Given the description of an element on the screen output the (x, y) to click on. 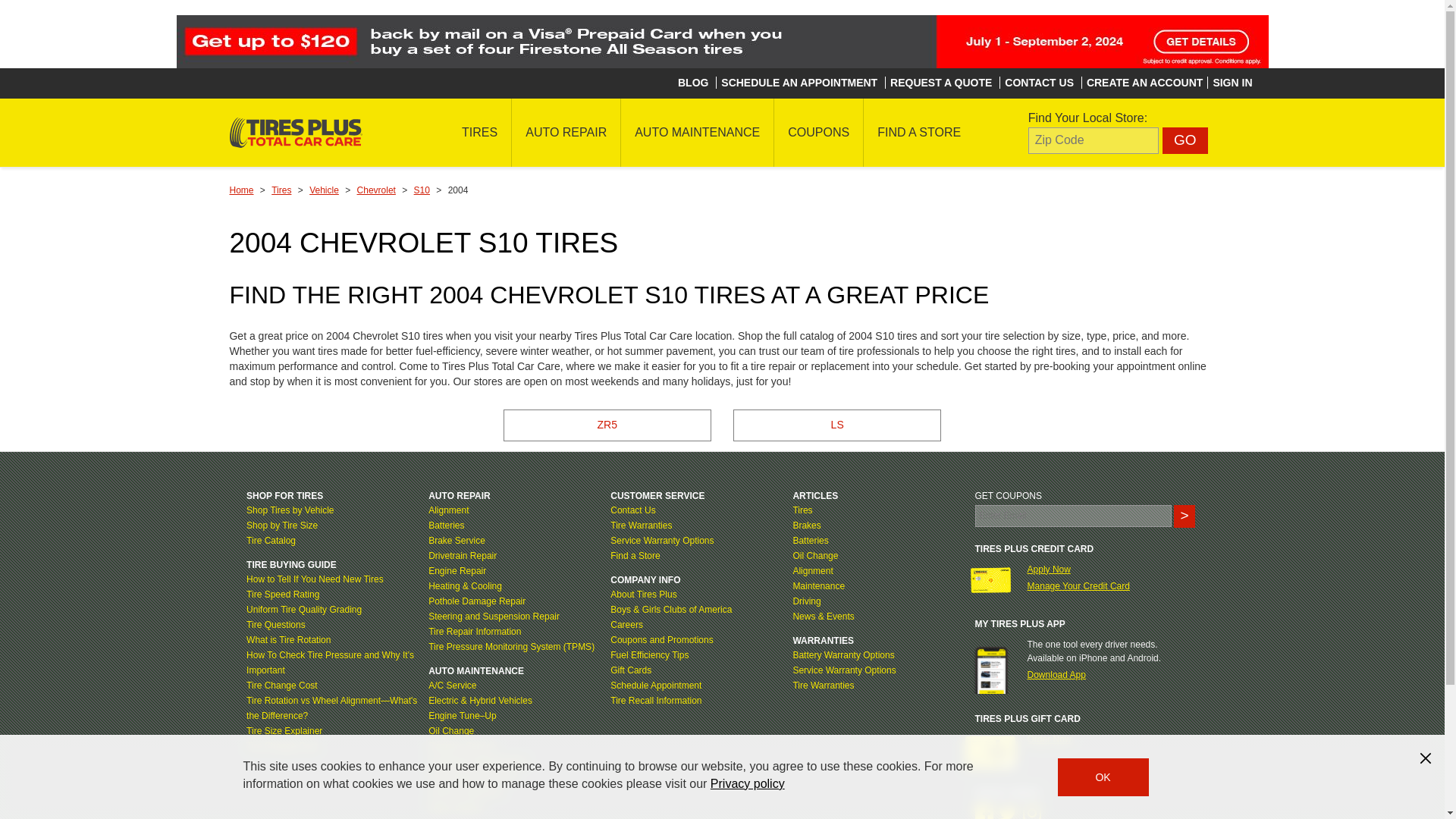
Twitter (1007, 811)
Zip Code (1092, 140)
AUTO REPAIR (566, 132)
agree button (1102, 777)
REQUEST A QUOTE (940, 82)
Privacy policy (747, 783)
TIRES (479, 132)
BLOG (692, 82)
close button (1425, 758)
CONTACT US (1038, 82)
CREATE AN ACCOUNT (1144, 82)
SIGN IN (1231, 82)
Facebook (983, 811)
Enter Email (1073, 516)
Instagram (1032, 811)
